Given the description of an element on the screen output the (x, y) to click on. 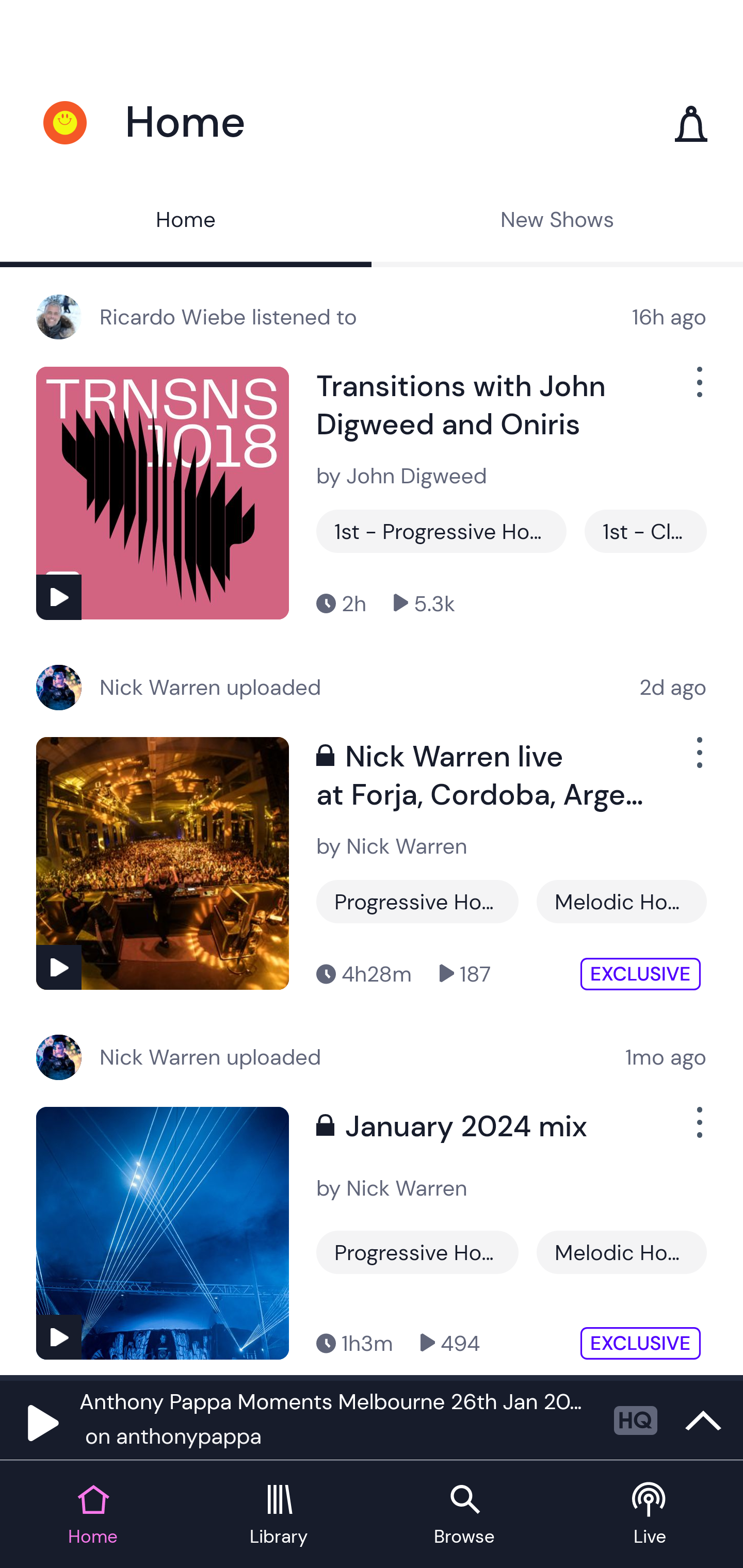
Home (185, 221)
New Shows (557, 221)
Show Options Menu Button (697, 389)
1st - Progressive House (441, 531)
1st - Club (645, 531)
Show Options Menu Button (697, 760)
Progressive House (417, 901)
Melodic House (621, 901)
Show Options Menu Button (697, 1130)
Progressive House (417, 1251)
Melodic House (621, 1251)
Home tab Home (92, 1515)
Library tab Library (278, 1515)
Browse tab Browse (464, 1515)
Live tab Live (650, 1515)
